Given the description of an element on the screen output the (x, y) to click on. 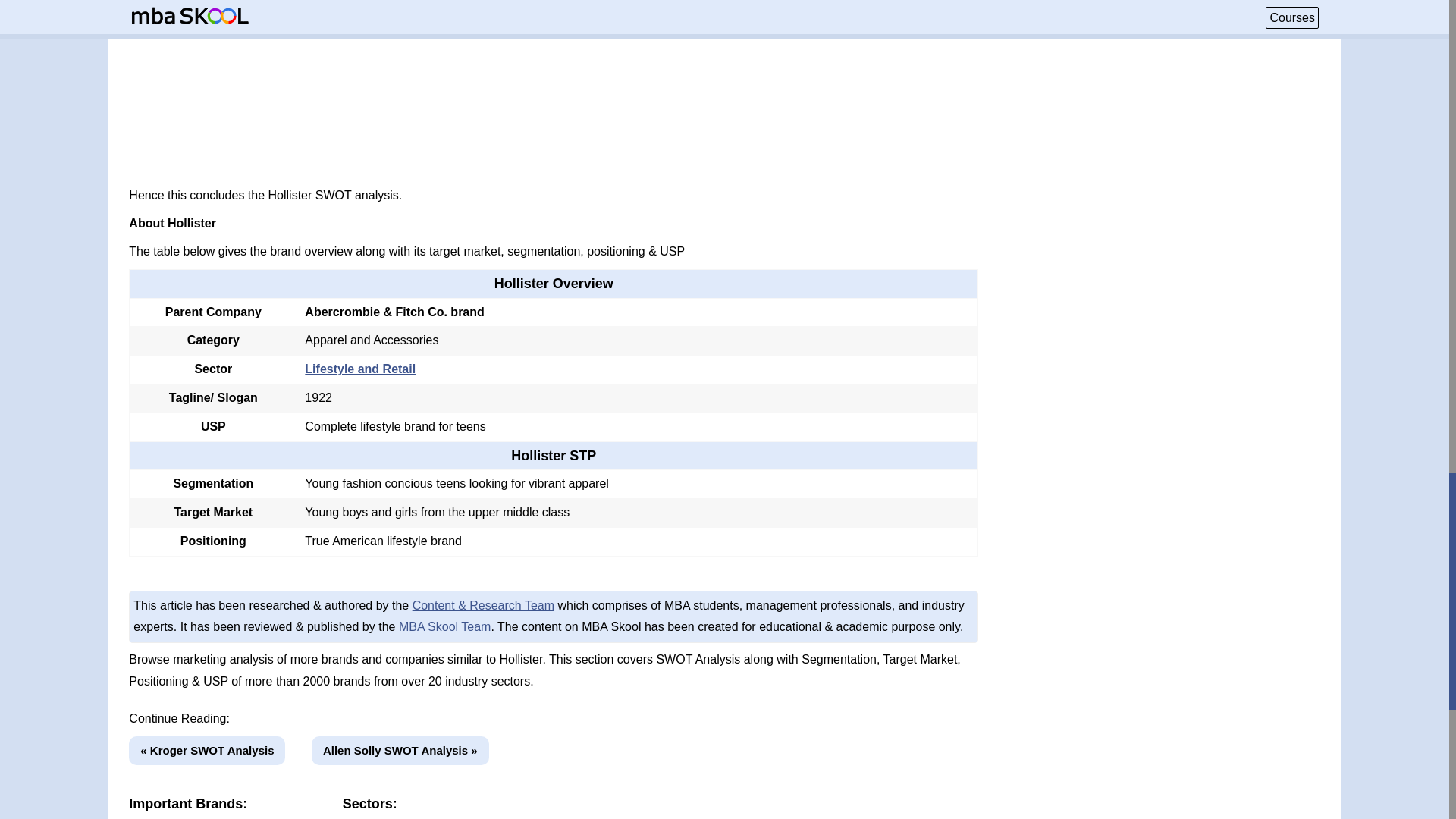
Allen Solly SWOT Analysis (400, 750)
Lifestyle and Retail (359, 368)
MBA Skool Team (445, 626)
Kroger SWOT Analysis (207, 750)
Advertisement (553, 83)
